Given the description of an element on the screen output the (x, y) to click on. 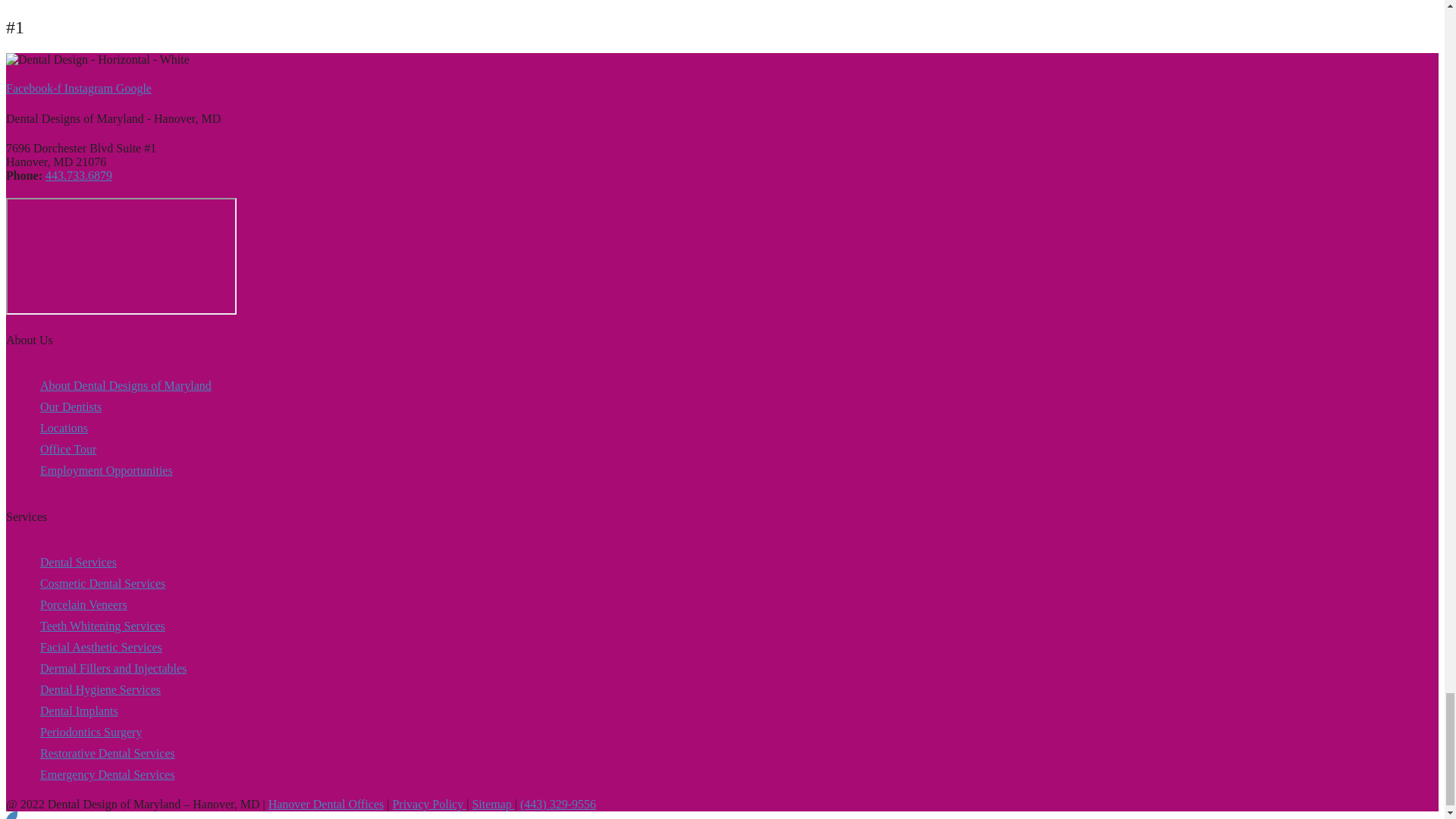
Locations (125, 427)
Office Tour (125, 449)
Our Dentists (125, 407)
About Dental Designs of Maryland (125, 386)
